Given the description of an element on the screen output the (x, y) to click on. 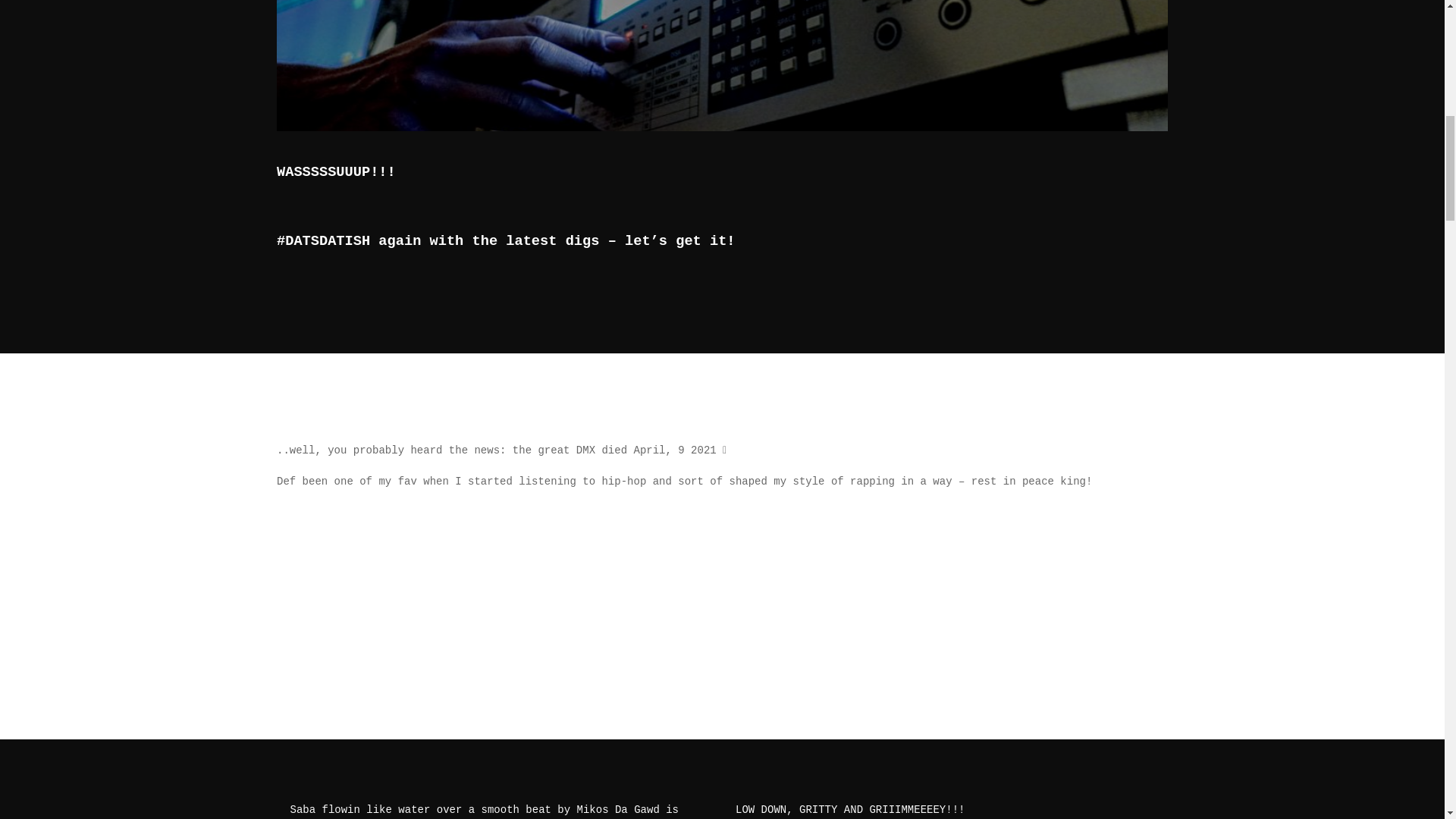
DSC01959 (699, 61)
Back to the top (1412, 117)
Spotify Embed: Where The Hood At (721, 586)
